Given the description of an element on the screen output the (x, y) to click on. 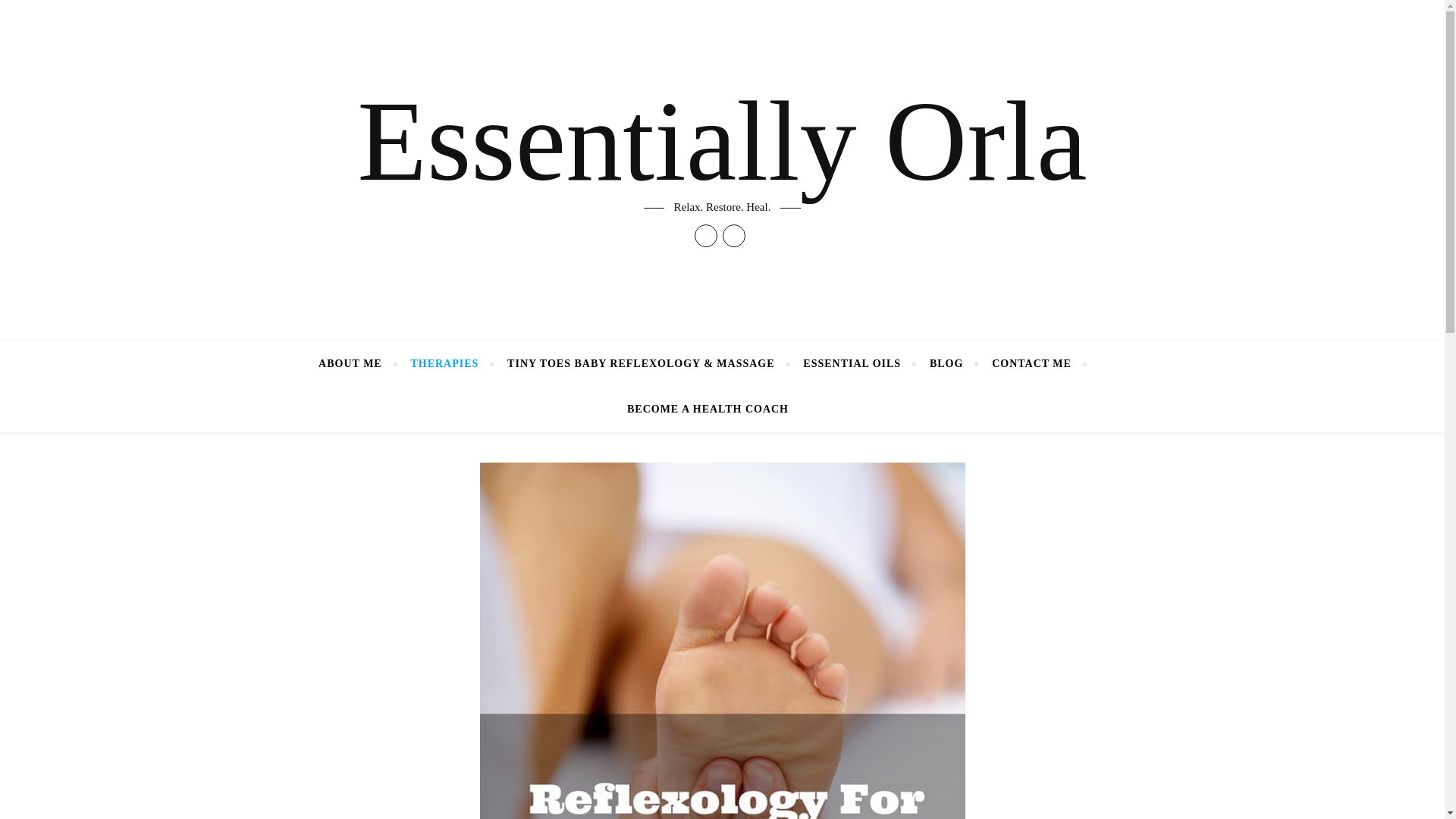
BECOME A HEALTH COACH (701, 409)
THERAPIES (444, 363)
BLOG (946, 363)
ABOUT ME (356, 363)
CONTACT ME (1031, 363)
ESSENTIAL OILS (852, 363)
